Given the description of an element on the screen output the (x, y) to click on. 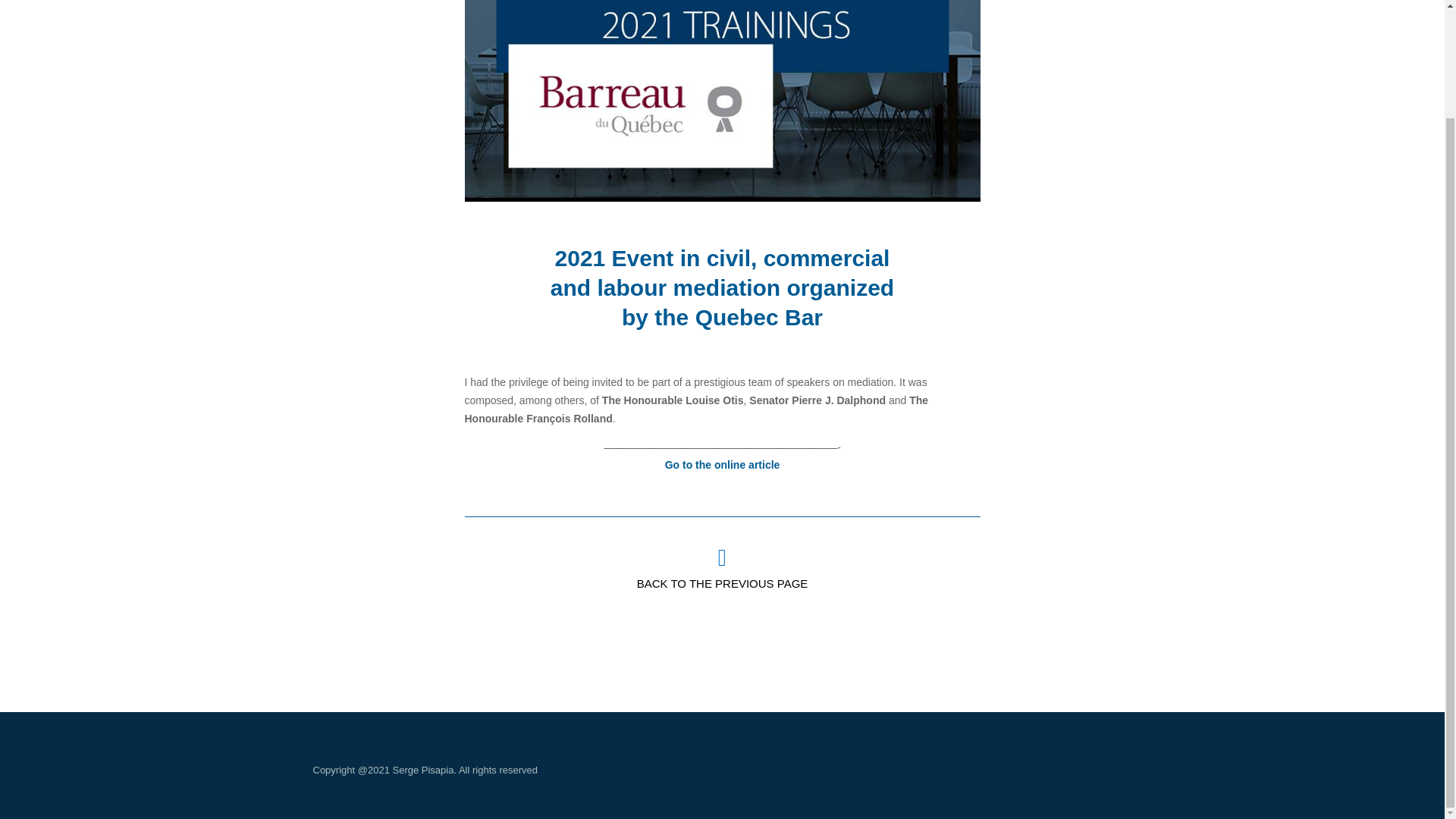
Go to the online article (722, 464)
news-2021-trainings (721, 100)
